Given the description of an element on the screen output the (x, y) to click on. 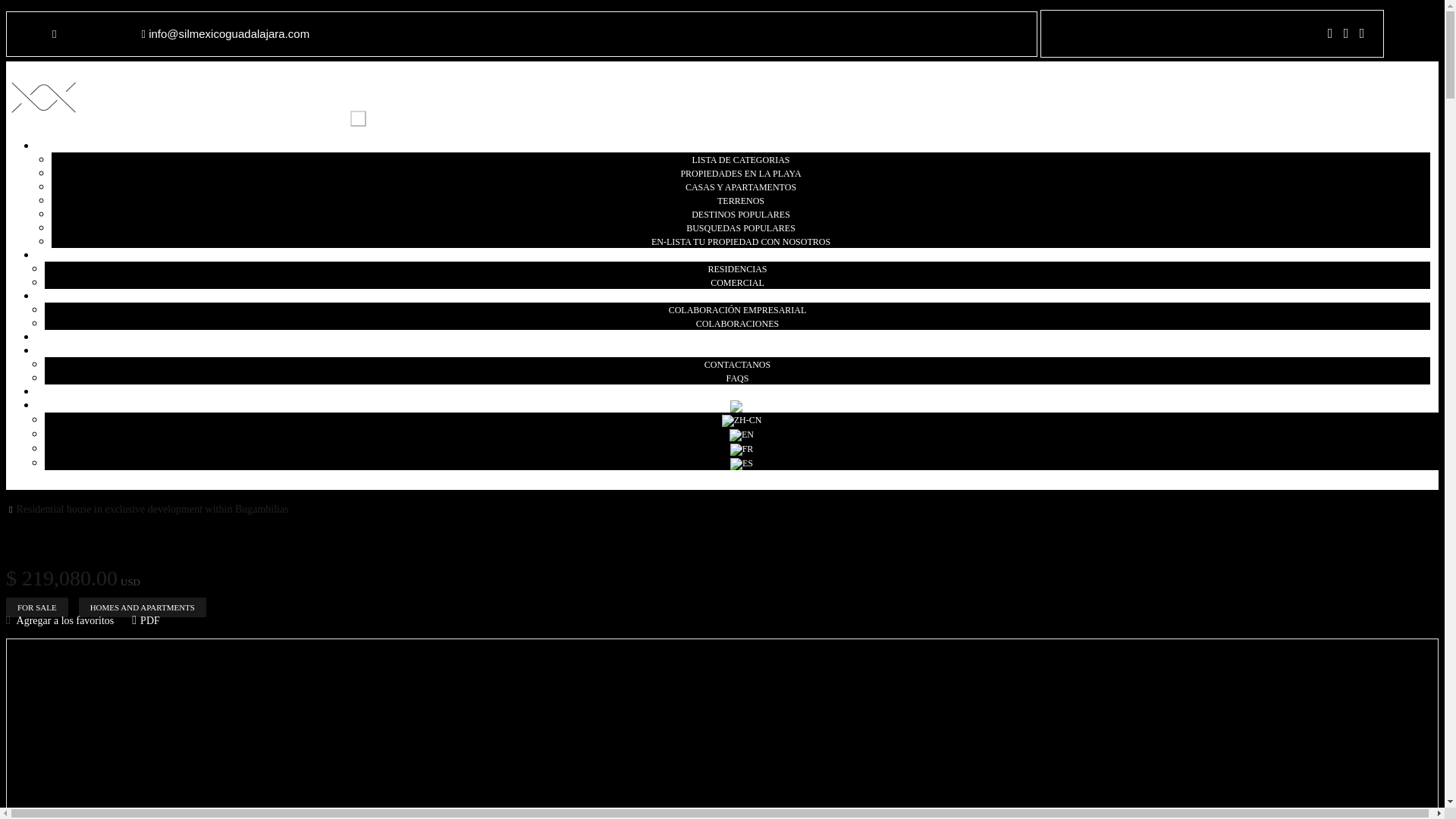
Comercial (737, 282)
Busquedas populares (740, 227)
En-lista tu propiedad con nosotros (740, 241)
PDF (146, 620)
ESQUEMAS DE INVERSION (736, 296)
CONTACTANOS (737, 364)
Residencias (737, 268)
FAQS (738, 378)
Casas y Apartamentos (740, 186)
CASAS Y APARTAMENTOS (740, 186)
Propiedades en la playa (740, 173)
Lista de categorias (740, 159)
EN-LISTA TU PROPIEDAD CON NOSOTROS (740, 241)
FAQS (738, 378)
COLABORACIONES (737, 323)
